Given the description of an element on the screen output the (x, y) to click on. 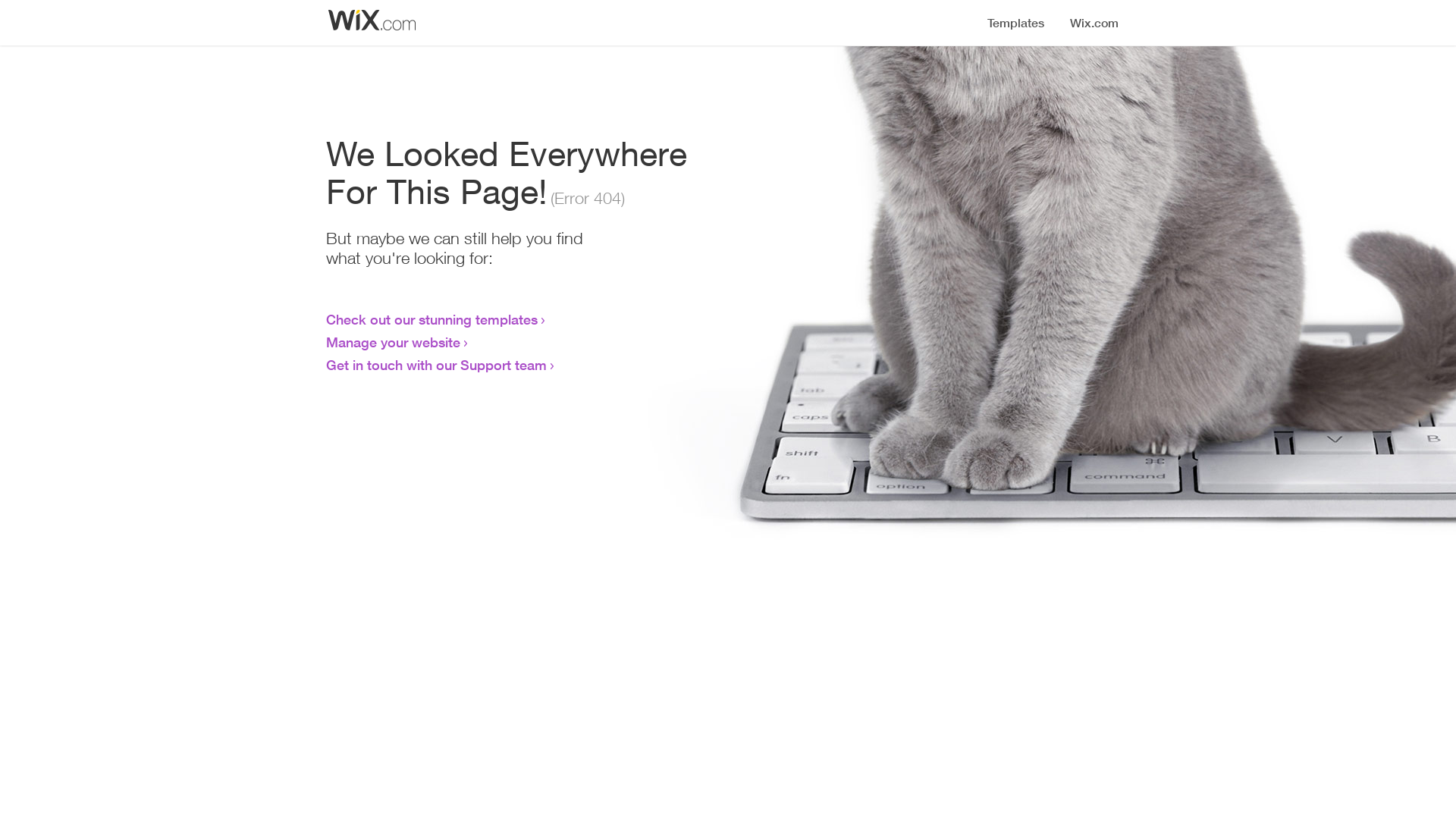
Manage your website Element type: text (393, 341)
Check out our stunning templates Element type: text (431, 318)
Get in touch with our Support team Element type: text (436, 364)
